Given the description of an element on the screen output the (x, y) to click on. 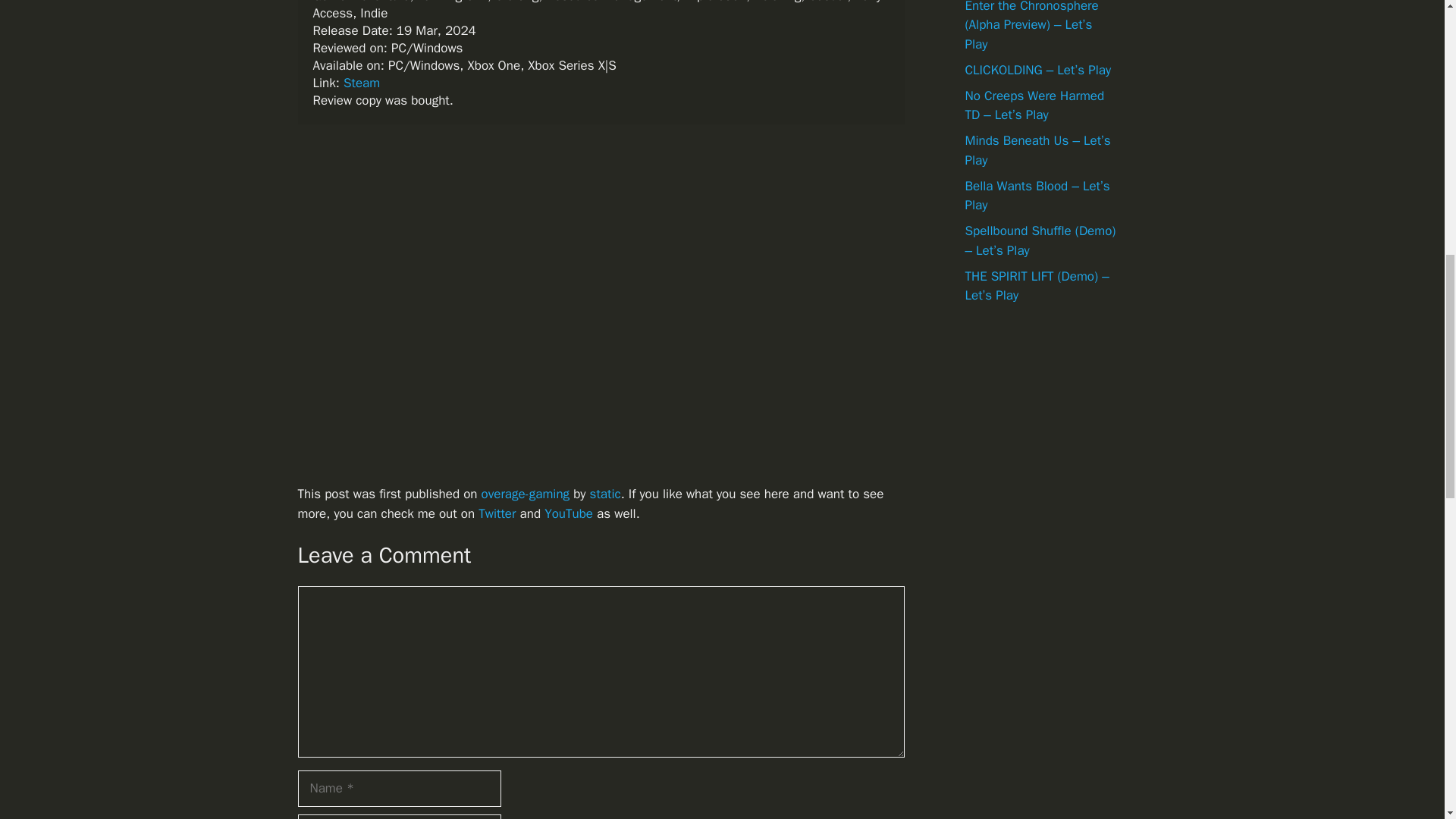
Steam (361, 82)
overage-gaming (525, 494)
static (605, 494)
YouTube (568, 513)
Twitter (497, 513)
